Given the description of an element on the screen output the (x, y) to click on. 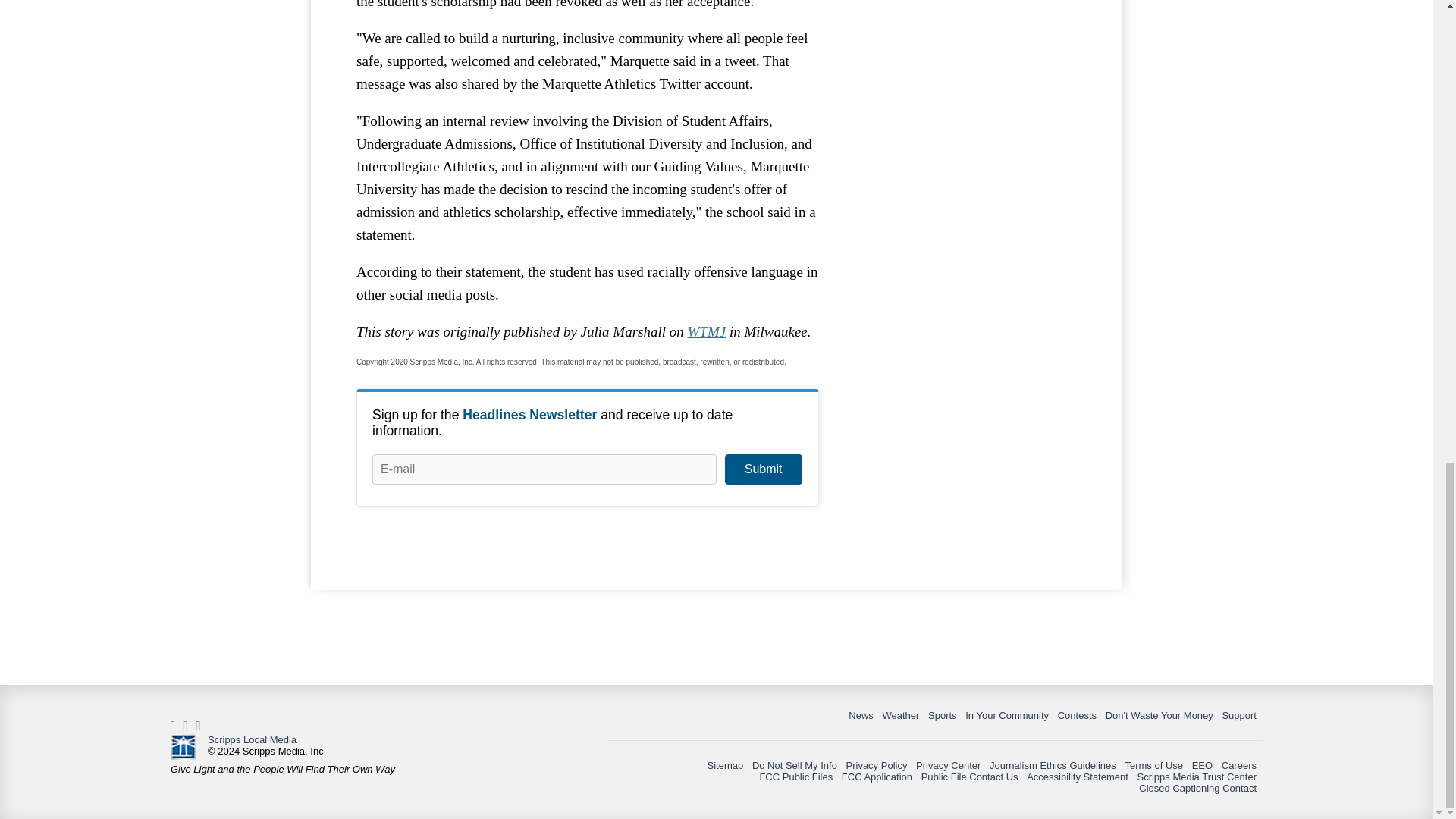
Submit (763, 469)
